Given the description of an element on the screen output the (x, y) to click on. 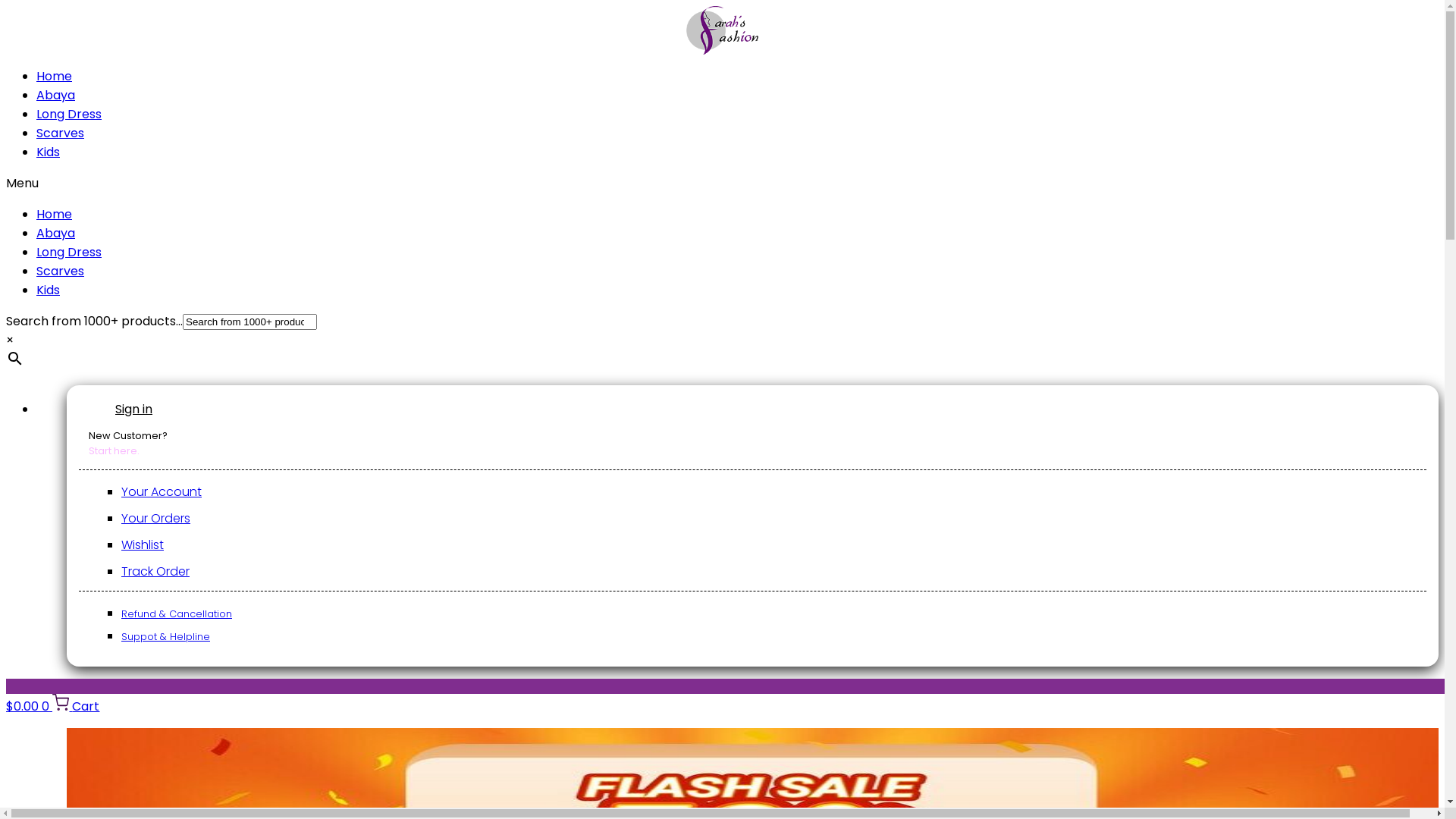
Kids Element type: text (47, 289)
Kids Element type: text (47, 151)
Scarves Element type: text (60, 270)
Scarves Element type: text (60, 132)
Long Dress Element type: text (68, 113)
Track Order Element type: text (155, 571)
Abaya Element type: text (55, 232)
$0.00 0 Cart Element type: text (52, 706)
Your Orders Element type: text (155, 518)
Refund & Cancellation Element type: text (176, 613)
Wishlist Element type: text (142, 544)
Abaya Element type: text (55, 94)
Home Element type: text (54, 75)
Sign in Element type: text (133, 408)
Your Account Element type: text (161, 491)
Home Element type: text (54, 213)
Suppot & Helpline Element type: text (165, 636)
Long Dress Element type: text (68, 251)
